Given the description of an element on the screen output the (x, y) to click on. 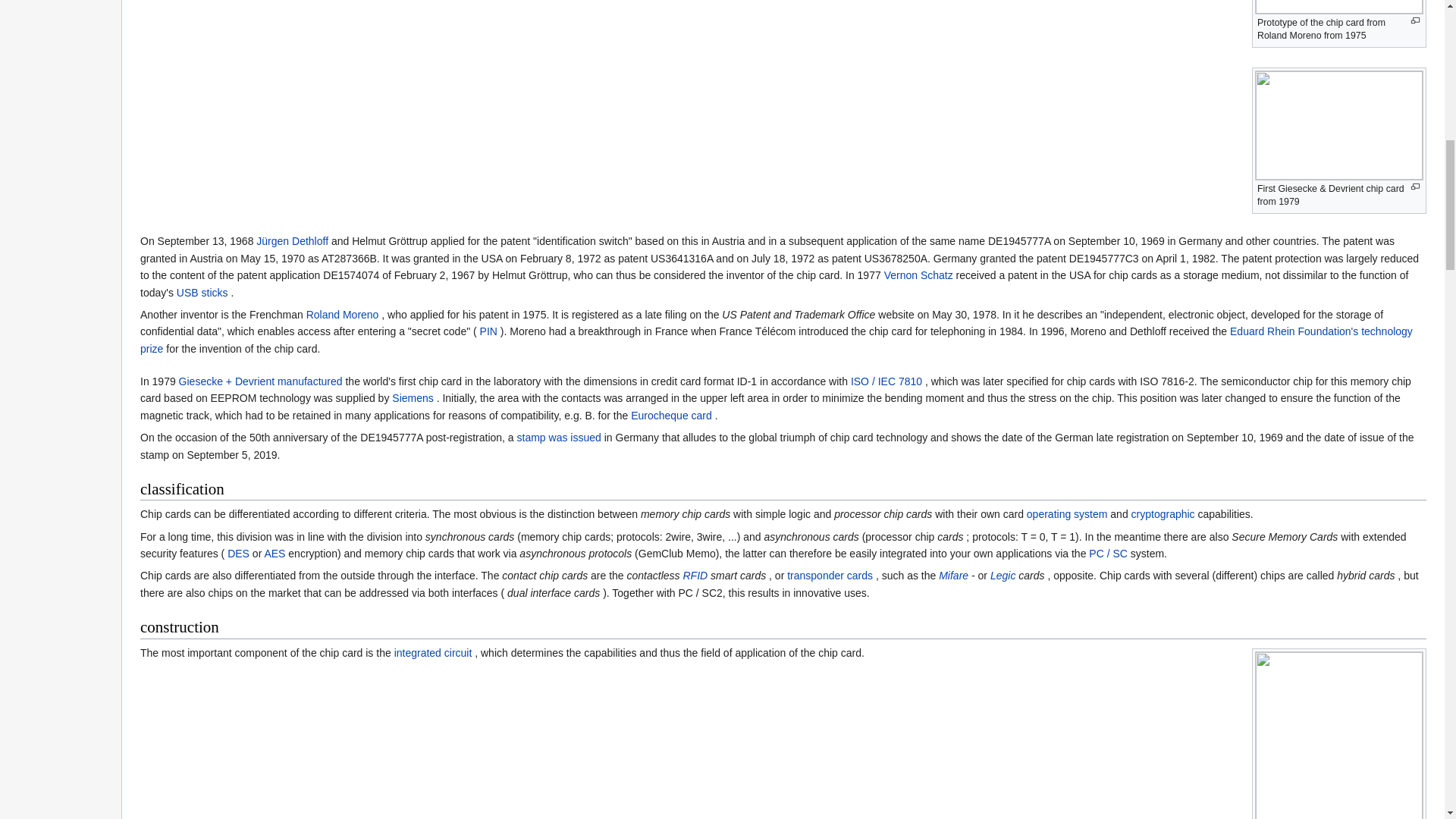
and display information about the image (1415, 20)
Vernon sweetheart (918, 275)
USB stick (202, 292)
and display information about the image (1415, 186)
Roland Moreno (341, 314)
Vernon Schatz (918, 275)
Personal identification number (488, 331)
